Given the description of an element on the screen output the (x, y) to click on. 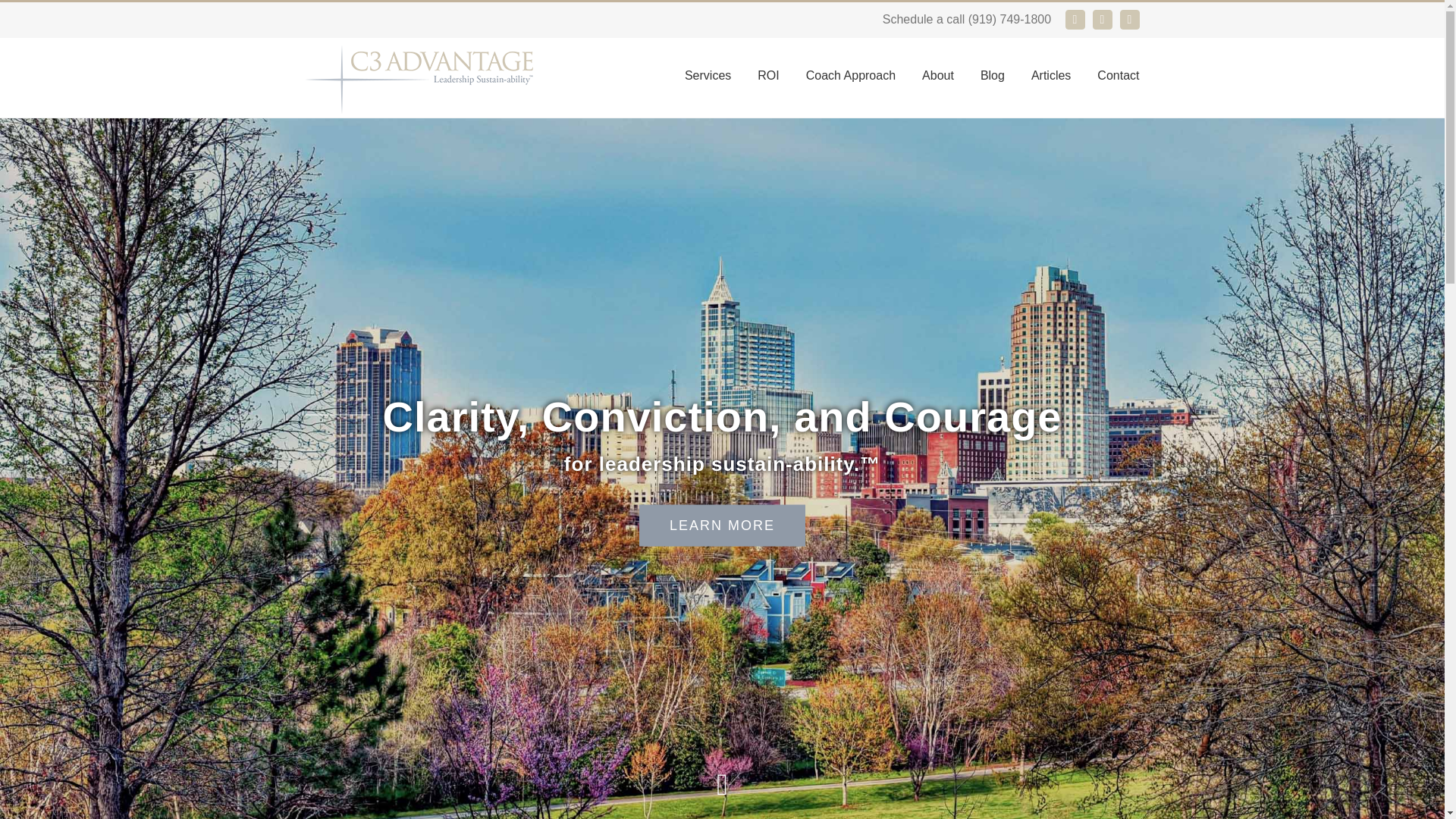
LEARN MORE (722, 525)
Coach Approach (850, 73)
LinkedIn (1102, 19)
LinkedIn (1102, 19)
Email (1074, 19)
Email (1074, 19)
YouTube (1128, 19)
YouTube (1128, 19)
